Given the description of an element on the screen output the (x, y) to click on. 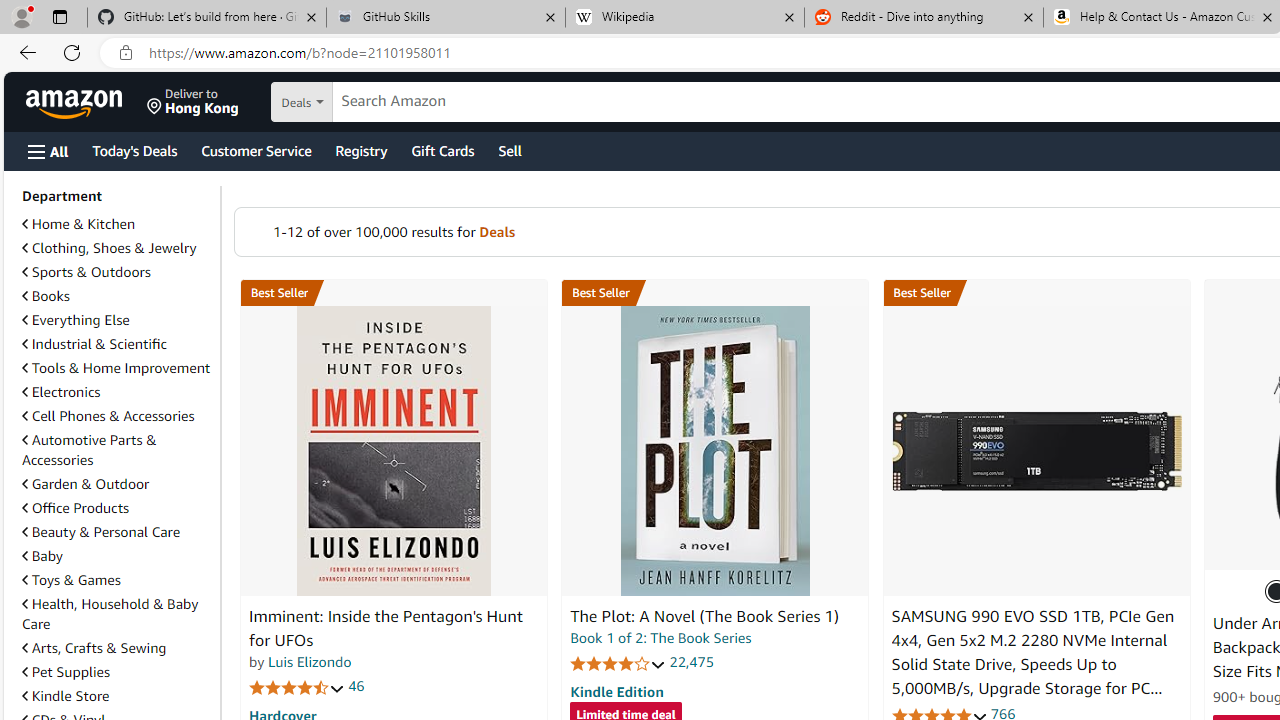
Clothing, Shoes & Jewelry (117, 247)
Best Seller in Heist Thrillers (715, 293)
Imminent: Inside the Pentagon's Hunt for UFOs (386, 628)
Electronics (117, 391)
Pet Supplies (65, 672)
Tools & Home Improvement (117, 367)
Open Menu (48, 151)
Kindle Edition (616, 691)
Kindle Store (65, 695)
Amazon (76, 101)
Customer Service (256, 150)
Books (117, 295)
